Given the description of an element on the screen output the (x, y) to click on. 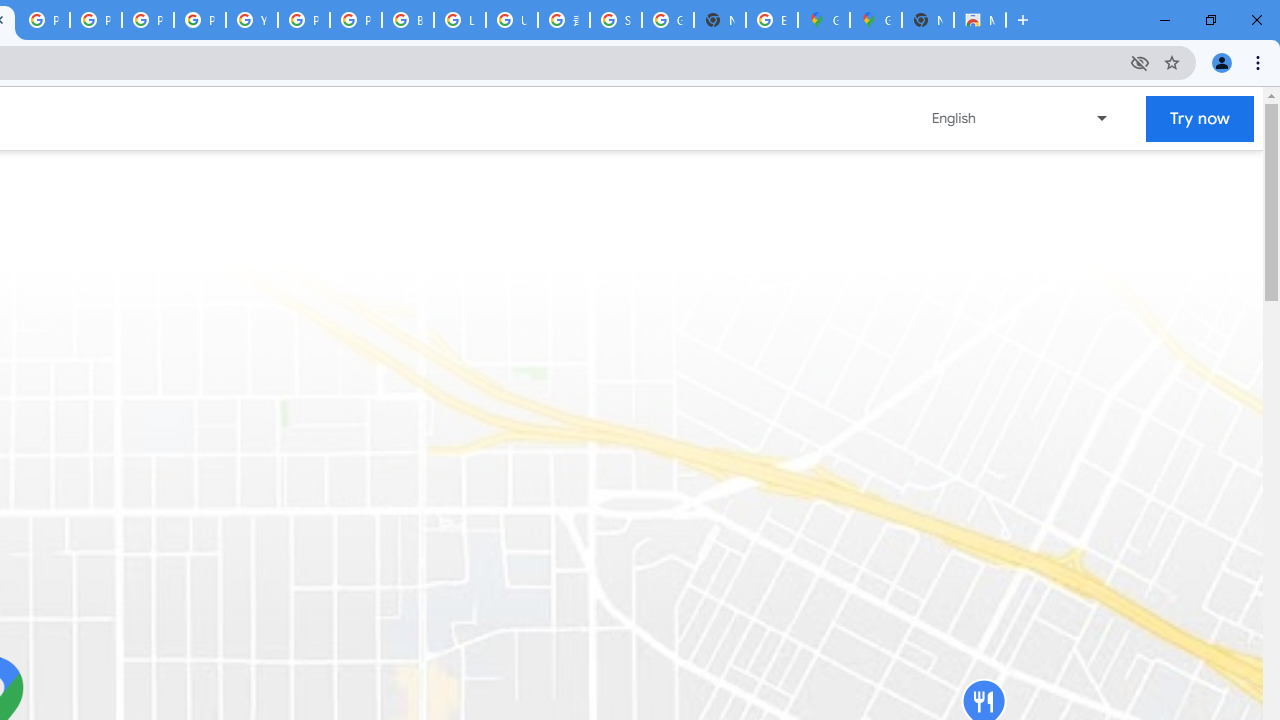
YouTube (251, 20)
Sign in - Google Accounts (616, 20)
Google Maps (875, 20)
Change language or region (1021, 117)
